Given the description of an element on the screen output the (x, y) to click on. 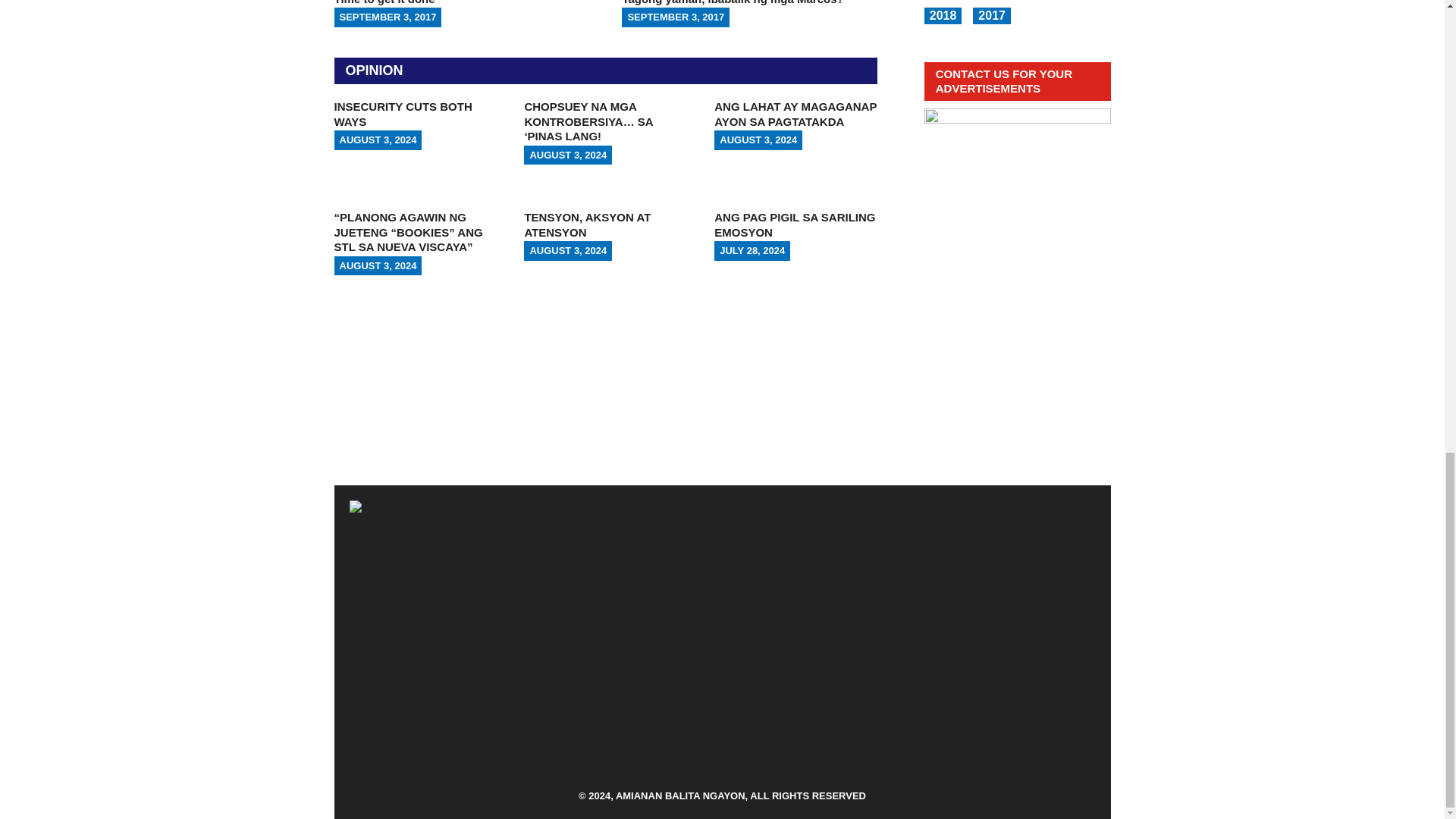
ANG LAHAT AY MAGAGANAP AYON SA PAGTATAKDA (795, 113)
Tagong yaman, ibabalik ng mga Marcos? (749, 11)
INSECURITY CUTS BOTH WAYS (402, 113)
ANG PAG PIGIL SA SARILING EMOSYON (794, 224)
Time to get it done (461, 11)
TENSYON, AKSYON AT ATENSYON (587, 224)
